Given the description of an element on the screen output the (x, y) to click on. 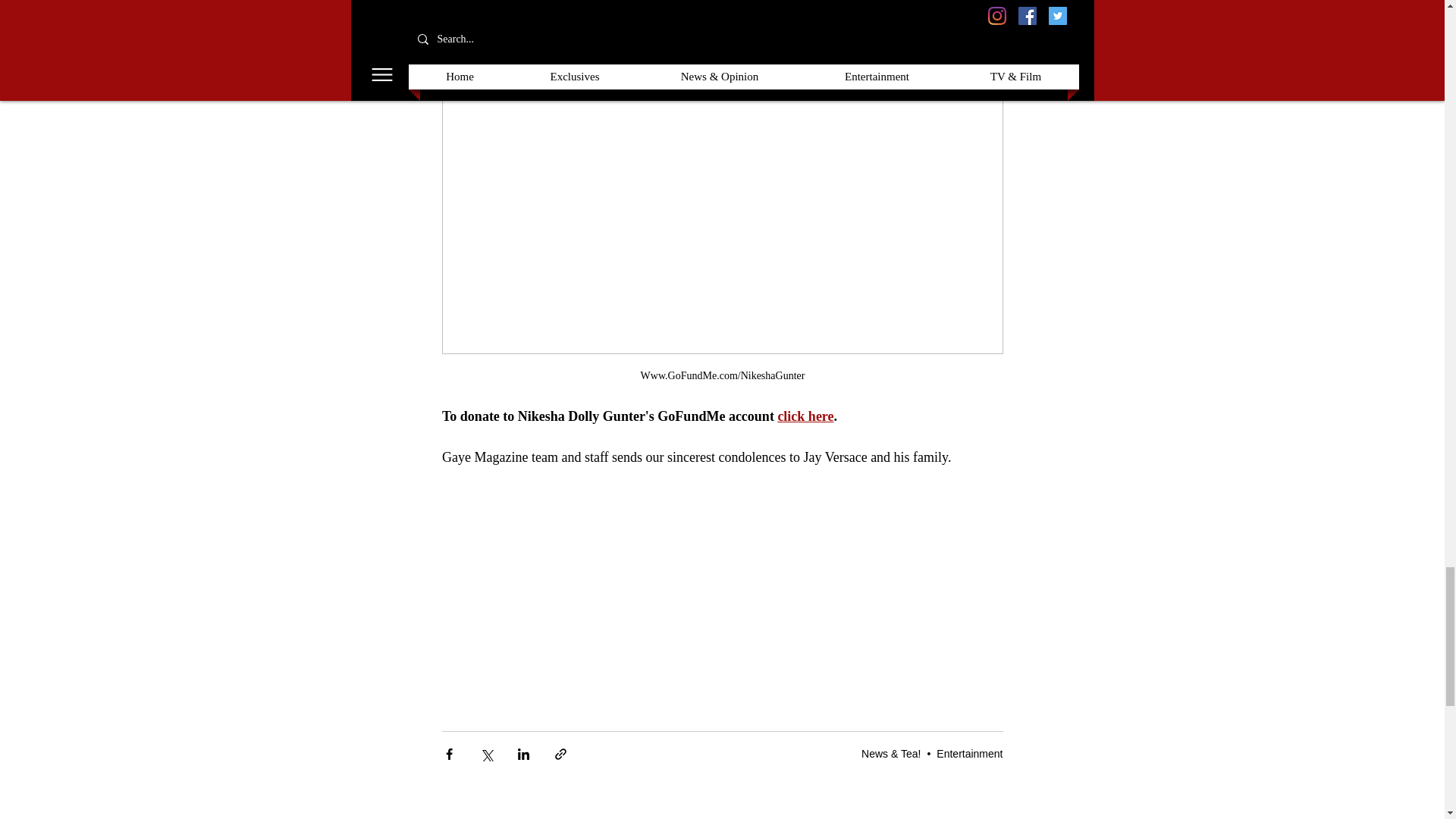
click here (804, 416)
